Given the description of an element on the screen output the (x, y) to click on. 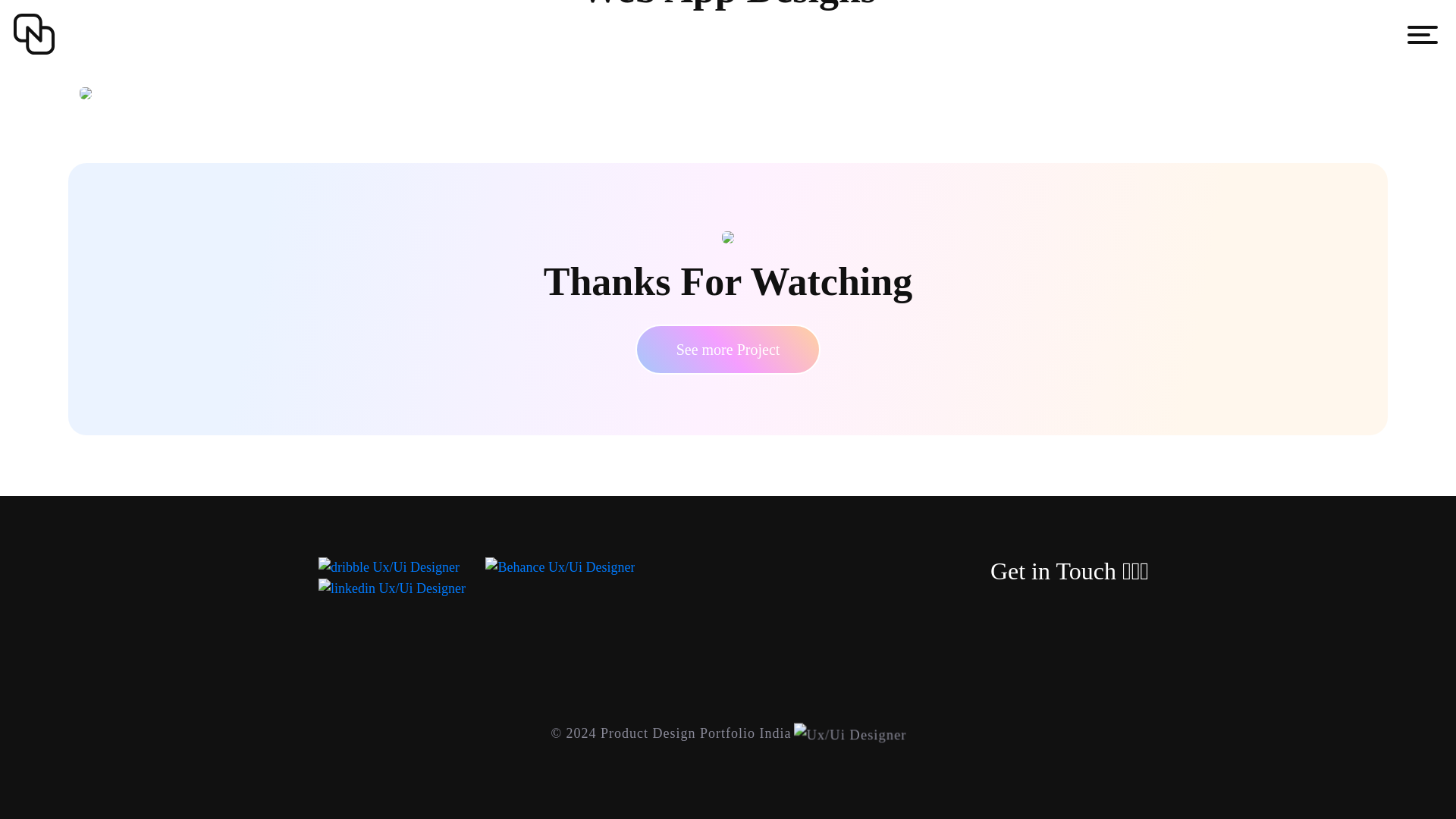
See more Project (727, 349)
